Given the description of an element on the screen output the (x, y) to click on. 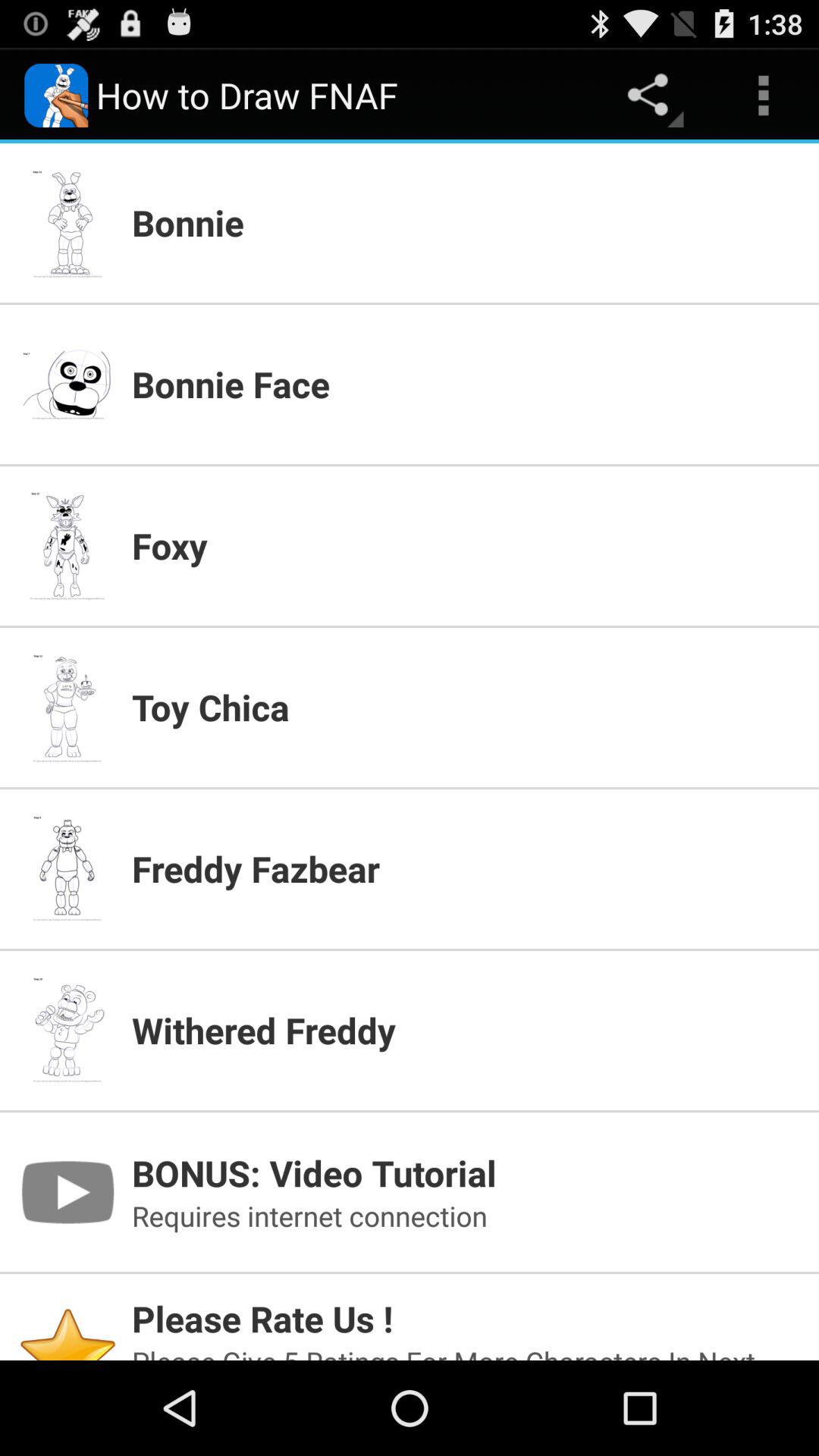
open the icon below the bonus: video tutorial app (465, 1215)
